Given the description of an element on the screen output the (x, y) to click on. 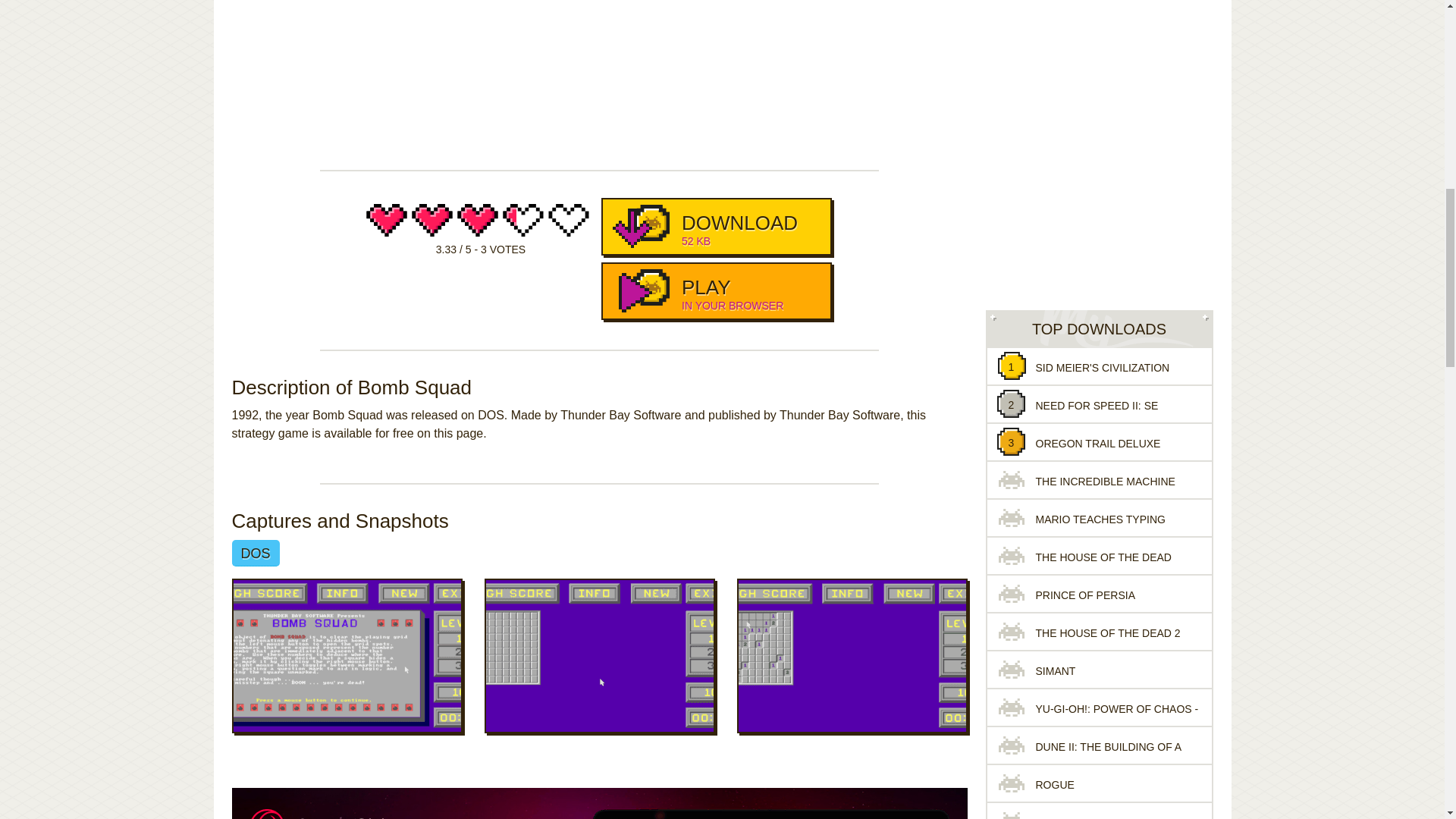
DOS (716, 291)
